Given the description of an element on the screen output the (x, y) to click on. 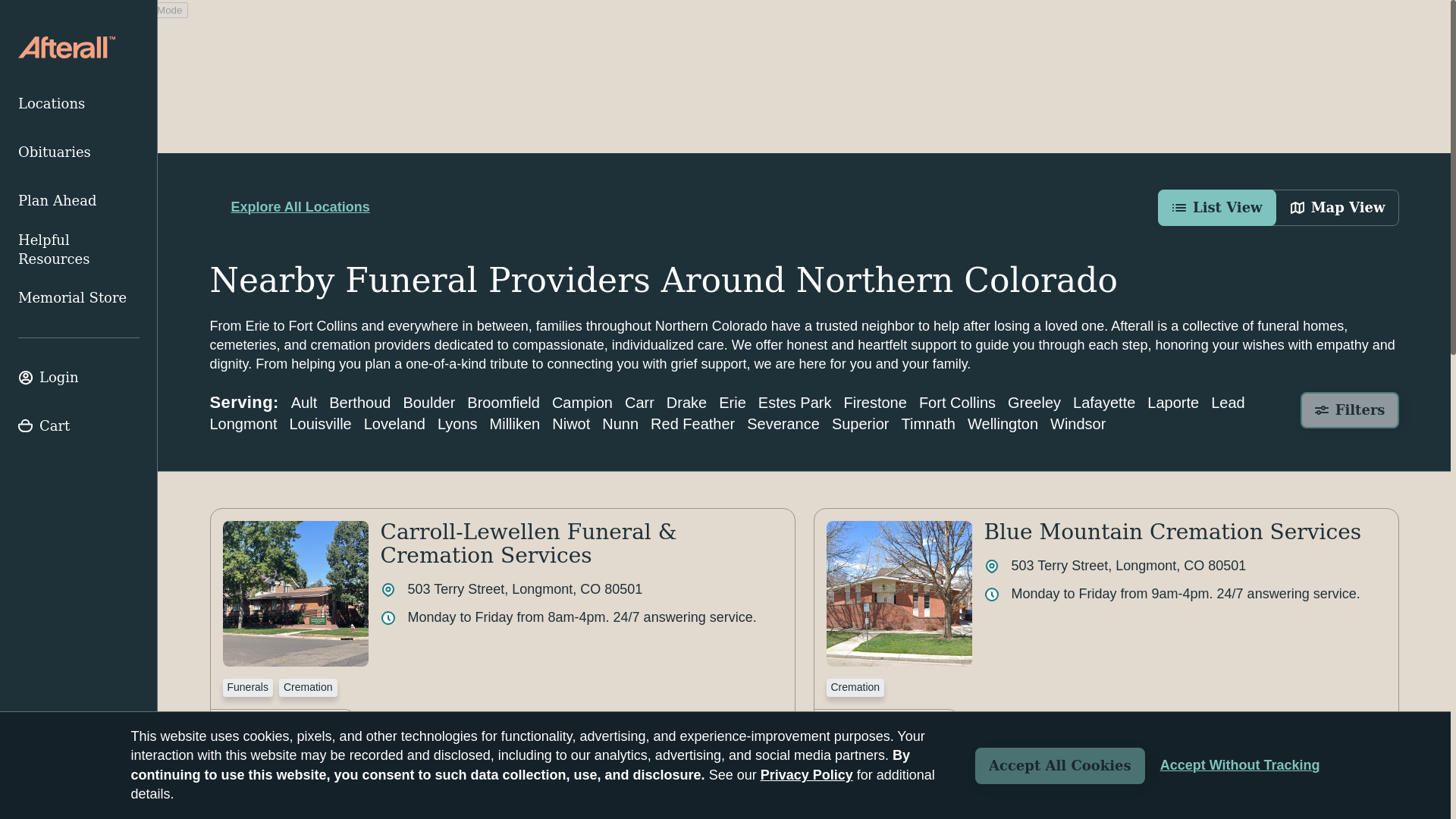
Blue Mountain Cremation Services (1172, 531)
Adamson Life Celebration Home (556, 794)
Plan Ahead (78, 200)
Obituaries (78, 151)
Vessey Funeral Service - Wellington (1177, 794)
Accept Without Tracking (1240, 765)
Home page (66, 47)
Cart (78, 426)
Locations (78, 103)
Memorial Store (78, 297)
Serving: (751, 413)
Sign In (78, 377)
Filters (1349, 410)
Privacy Policy (806, 774)
Login (78, 377)
